Given the description of an element on the screen output the (x, y) to click on. 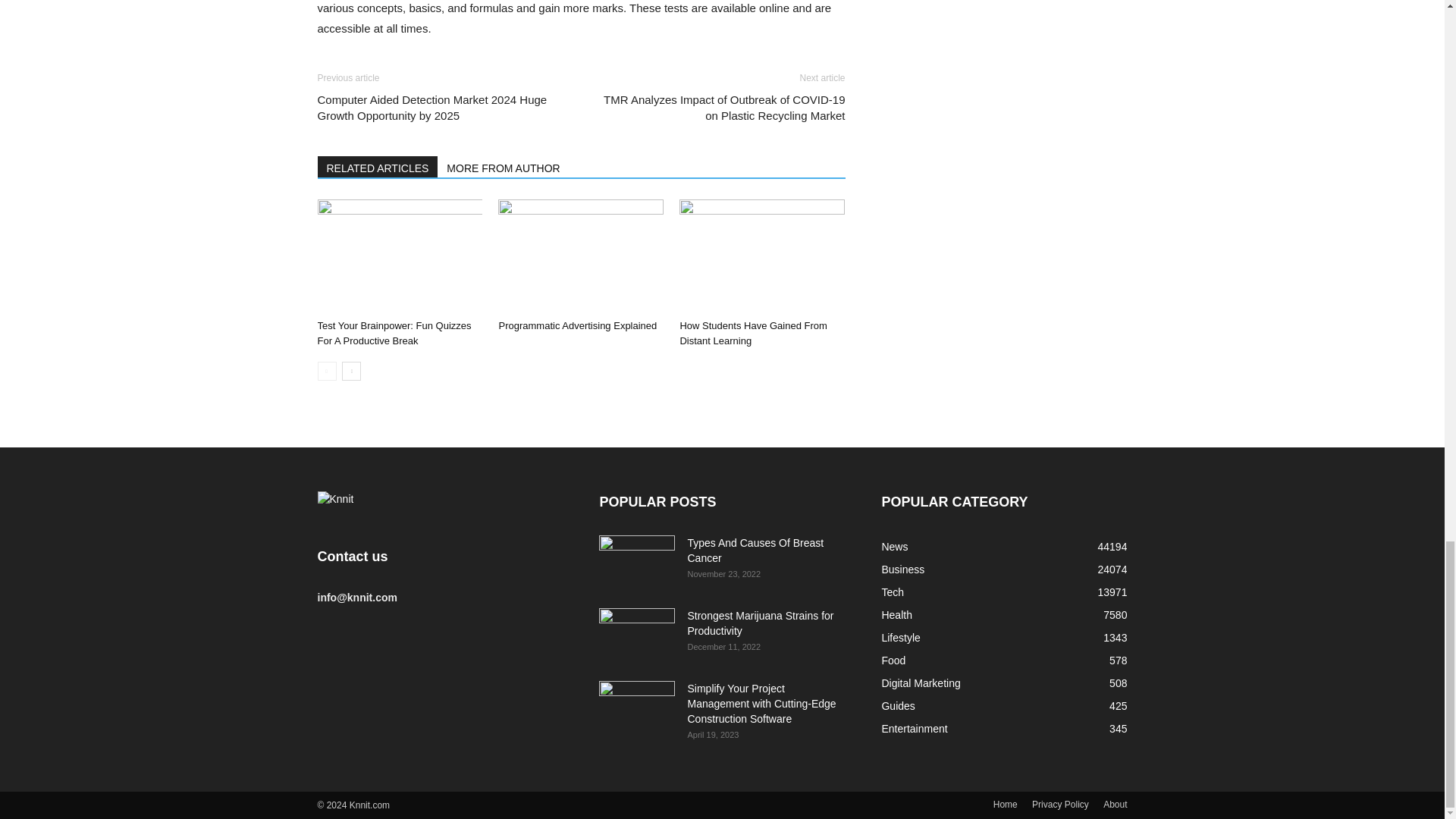
RELATED ARTICLES (377, 166)
Programmatic Advertising  Explained (580, 255)
Test Your Brainpower: Fun Quizzes For A Productive Break (393, 333)
Programmatic Advertising Explained (576, 325)
MORE FROM AUTHOR (503, 166)
Test Your Brainpower: Fun Quizzes For A Productive Break (393, 333)
Test Your Brainpower: Fun Quizzes For A Productive Break (399, 255)
How Students Have Gained From Distant Learning (753, 333)
